Given the description of an element on the screen output the (x, y) to click on. 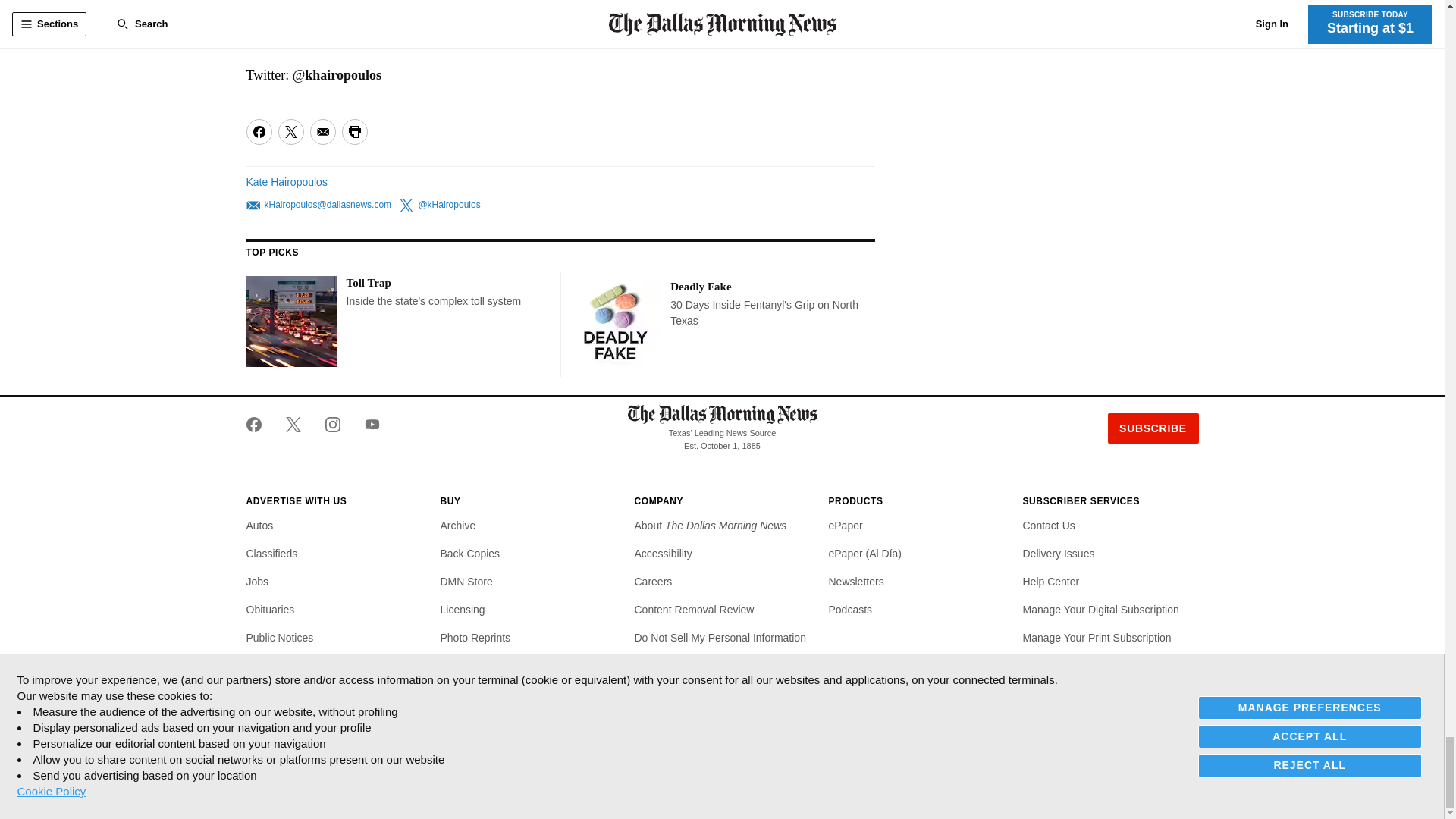
The Dallas Morning News on YouTube (365, 424)
The Dallas Morning News on Facebook (259, 424)
The Dallas Morning News on Twitter (293, 424)
Share on Facebook (258, 131)
Print (353, 131)
The Dallas Morning News on Instagram (332, 424)
Share via Email (321, 131)
Share on Twitter (290, 131)
